Given the description of an element on the screen output the (x, y) to click on. 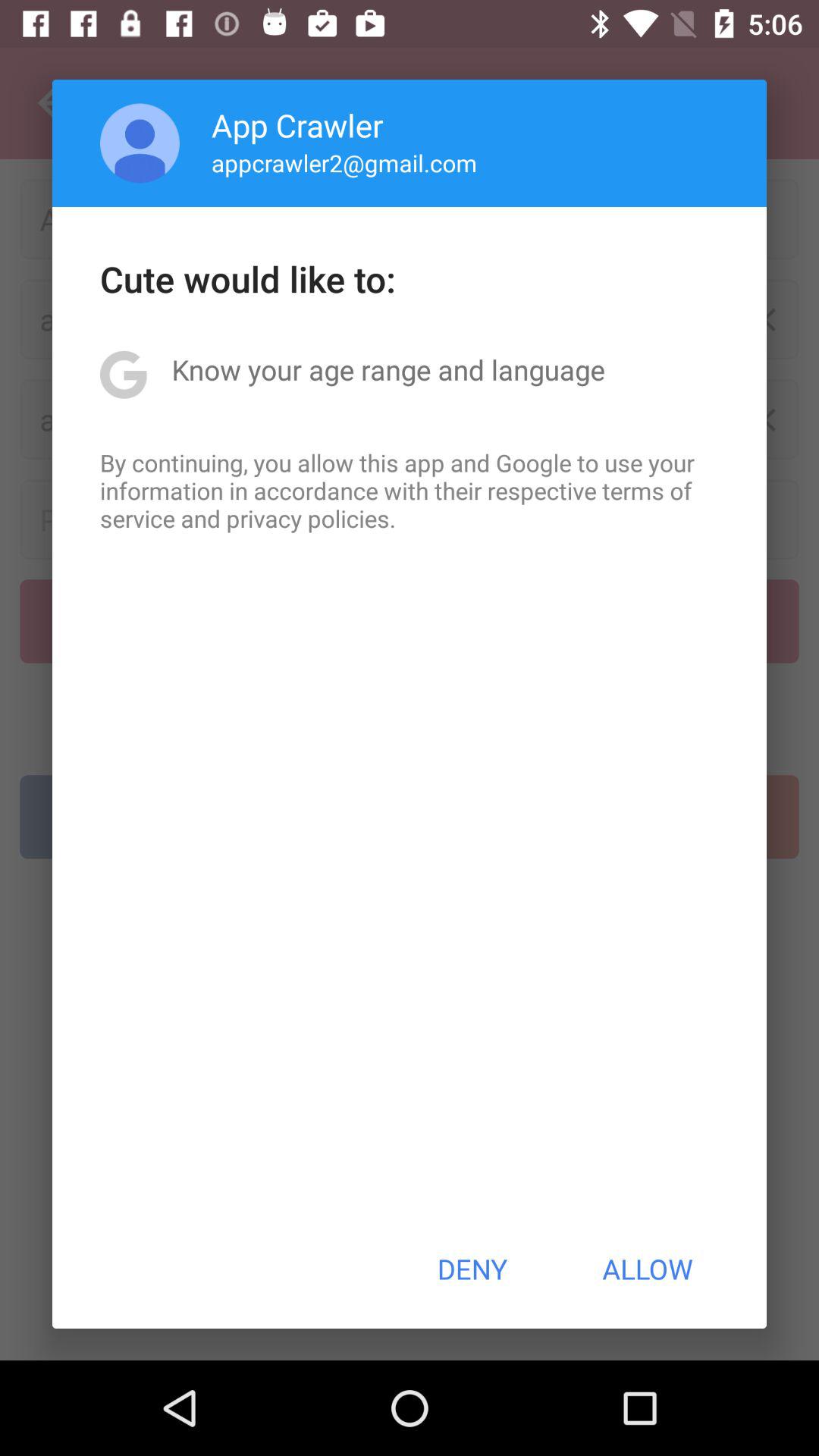
turn off the item next to the app crawler item (139, 143)
